Given the description of an element on the screen output the (x, y) to click on. 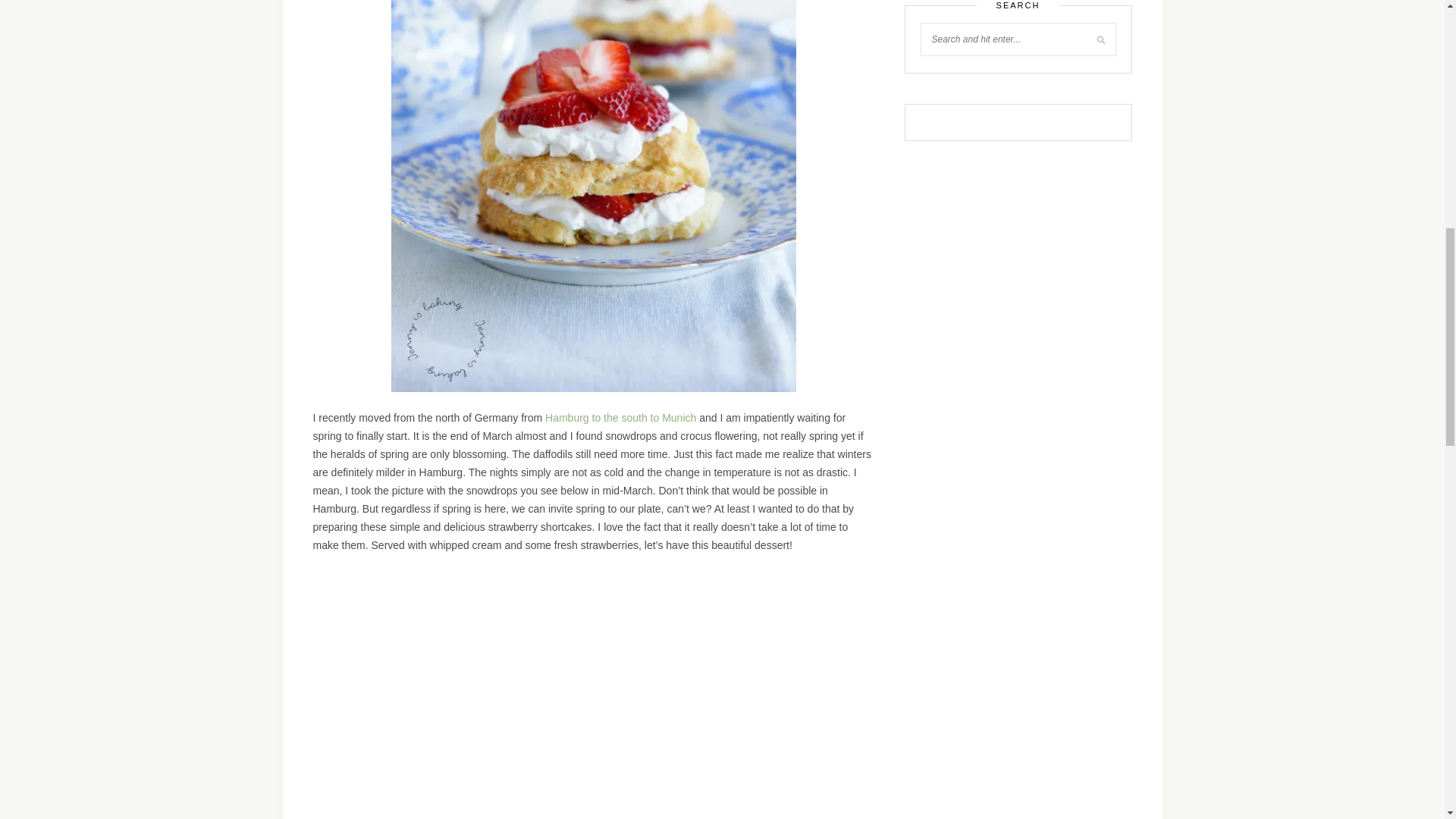
Hamburg to the south to Munich (619, 417)
